Given the description of an element on the screen output the (x, y) to click on. 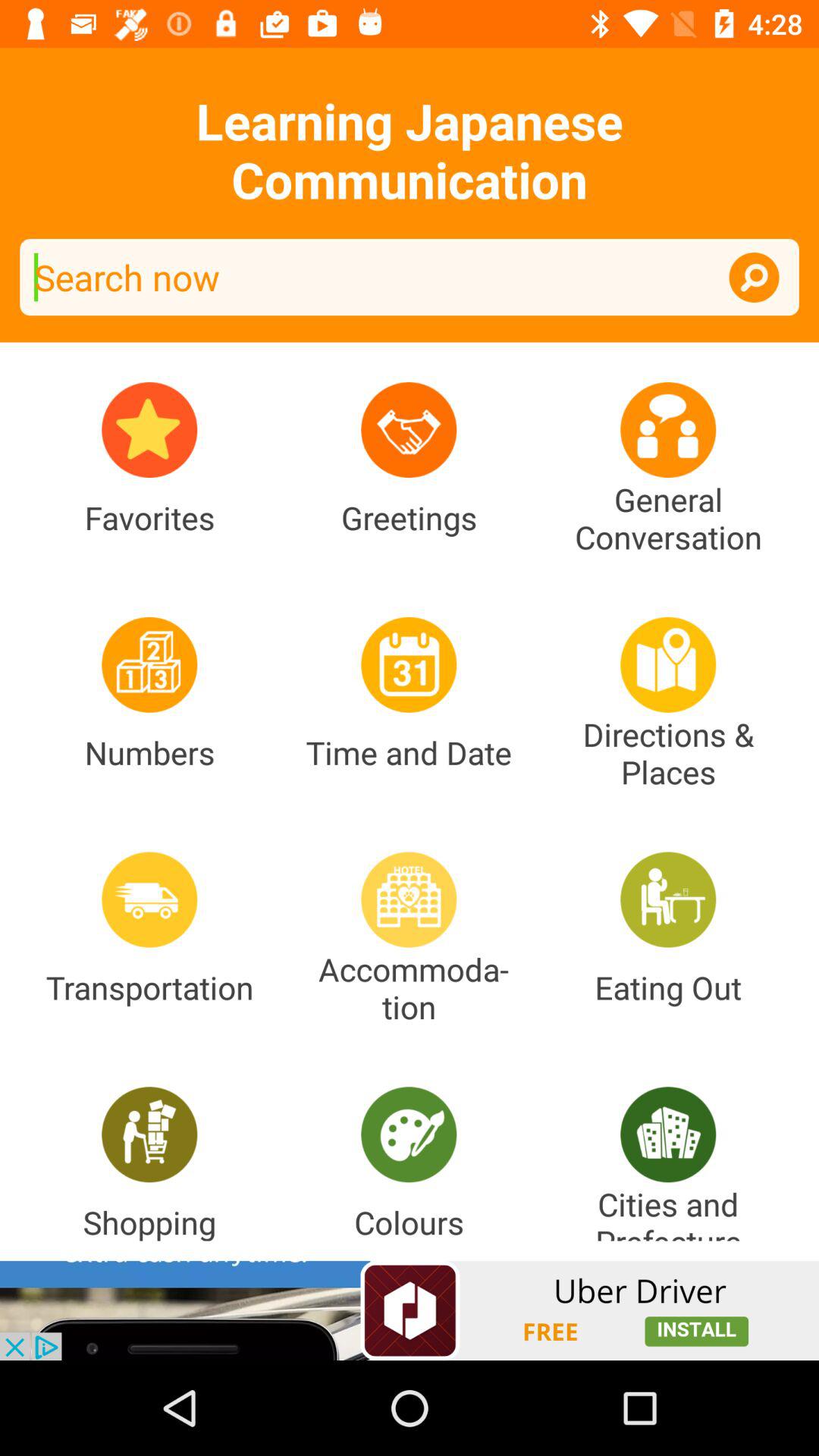
search box (409, 276)
